Given the description of an element on the screen output the (x, y) to click on. 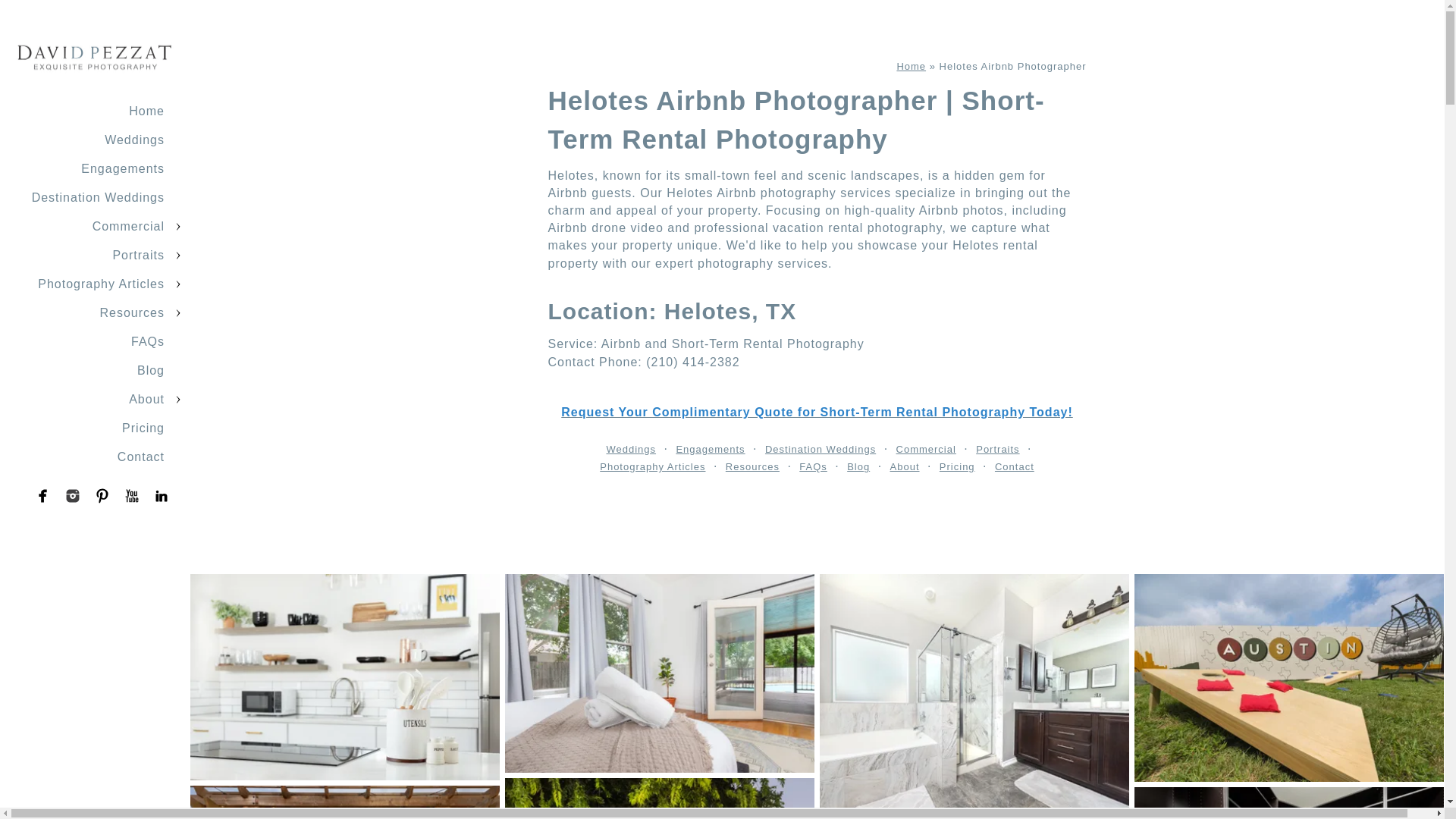
Engagements (122, 168)
Pricing (143, 427)
YouTube (131, 495)
Pinterest (101, 495)
FAQs questions for wedding photographers (813, 465)
Contact San Antonio Wedding Photographer, David Pezzat (1013, 465)
Engagement Photography by David Pezzat (709, 448)
LinkedIn (161, 495)
Resources (132, 312)
Wedding Photographers Near Me (630, 448)
Resources (751, 465)
Contact (140, 456)
San Antonio Wedding Photographer David Pezzat (911, 66)
Weddings (134, 139)
Blog (858, 465)
